Given the description of an element on the screen output the (x, y) to click on. 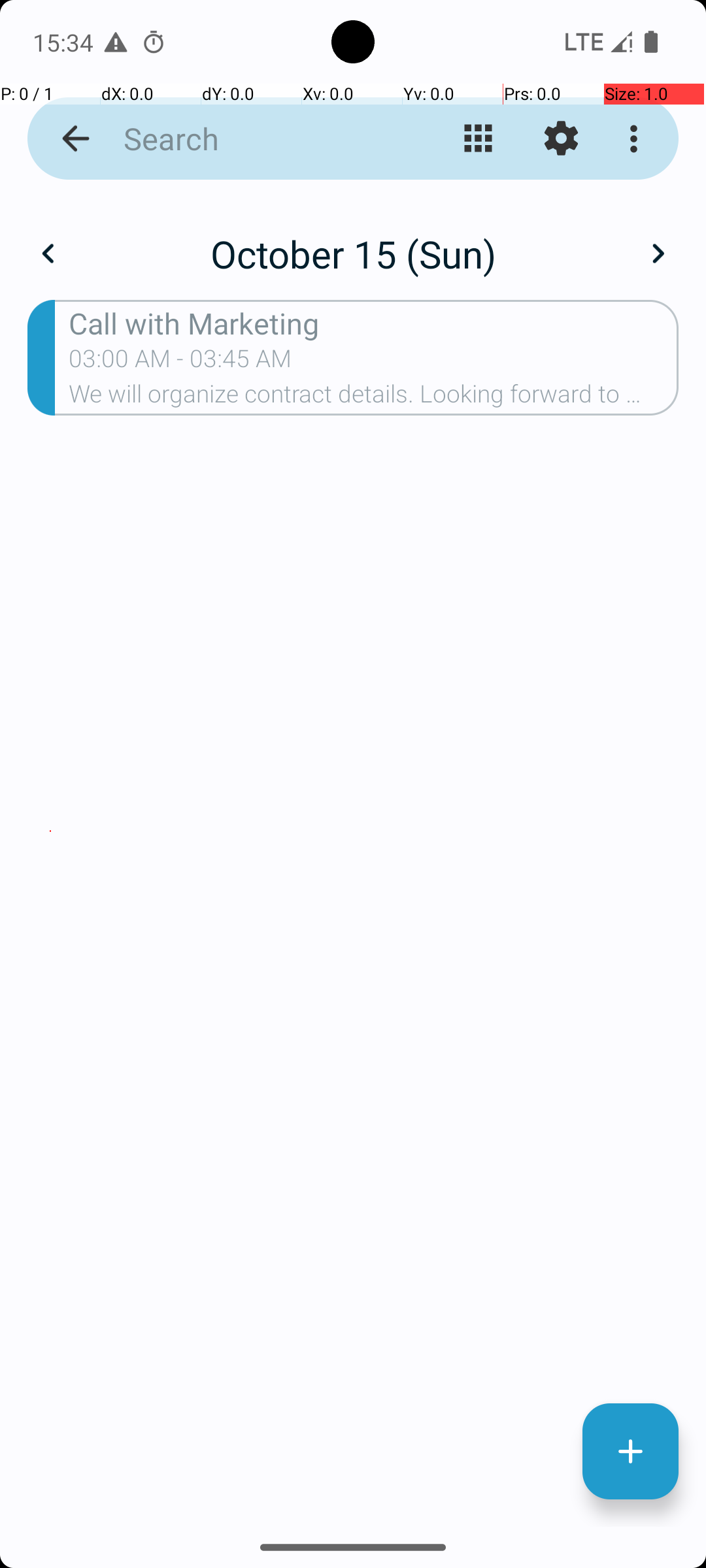
October 15 (Sun) Element type: android.widget.TextView (352, 253)
Call with Marketing Element type: android.widget.TextView (373, 321)
03:00 AM - 03:45 AM Element type: android.widget.TextView (179, 362)
We will organize contract details. Looking forward to productive discussions. Element type: android.widget.TextView (373, 397)
